Given the description of an element on the screen output the (x, y) to click on. 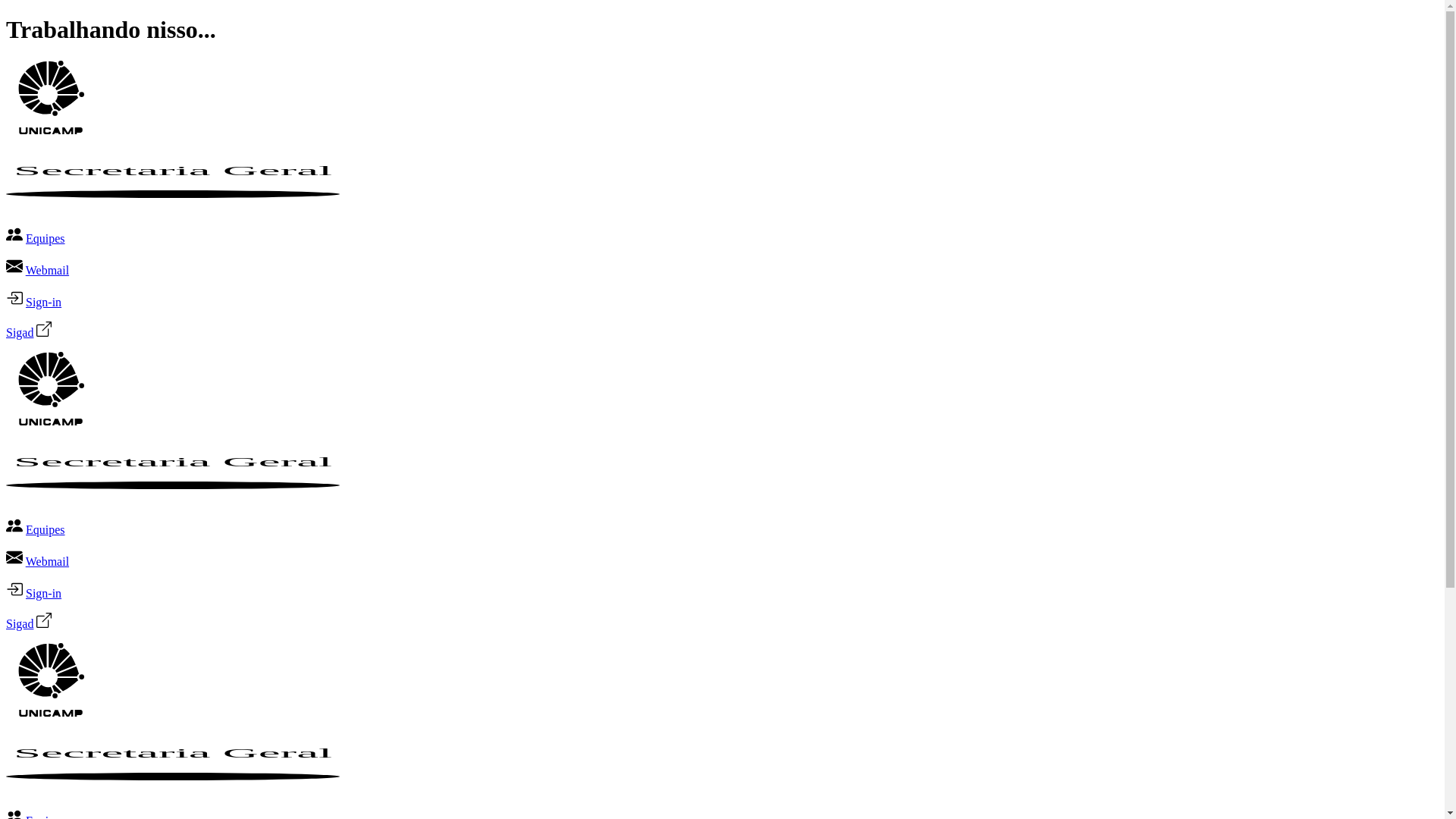
Logotipo Secretaria Geral
Secretaria Geral Element type: text (172, 788)
Sign-in Element type: text (43, 301)
Logotipo Unicamp Element type: text (47, 420)
Sigad Element type: text (19, 623)
Webmail Element type: text (47, 561)
Sign-in Element type: text (43, 592)
Sigad Element type: text (19, 332)
Logotipo Secretaria Geral
Secretaria Geral Element type: text (172, 497)
Logotipo Unicamp Element type: text (47, 129)
Webmail Element type: text (47, 269)
Logotipo Unicamp Element type: text (47, 712)
Equipes Element type: text (45, 238)
Logotipo Secretaria Geral
Secretaria Geral Element type: text (172, 206)
Equipes Element type: text (45, 529)
